Given the description of an element on the screen output the (x, y) to click on. 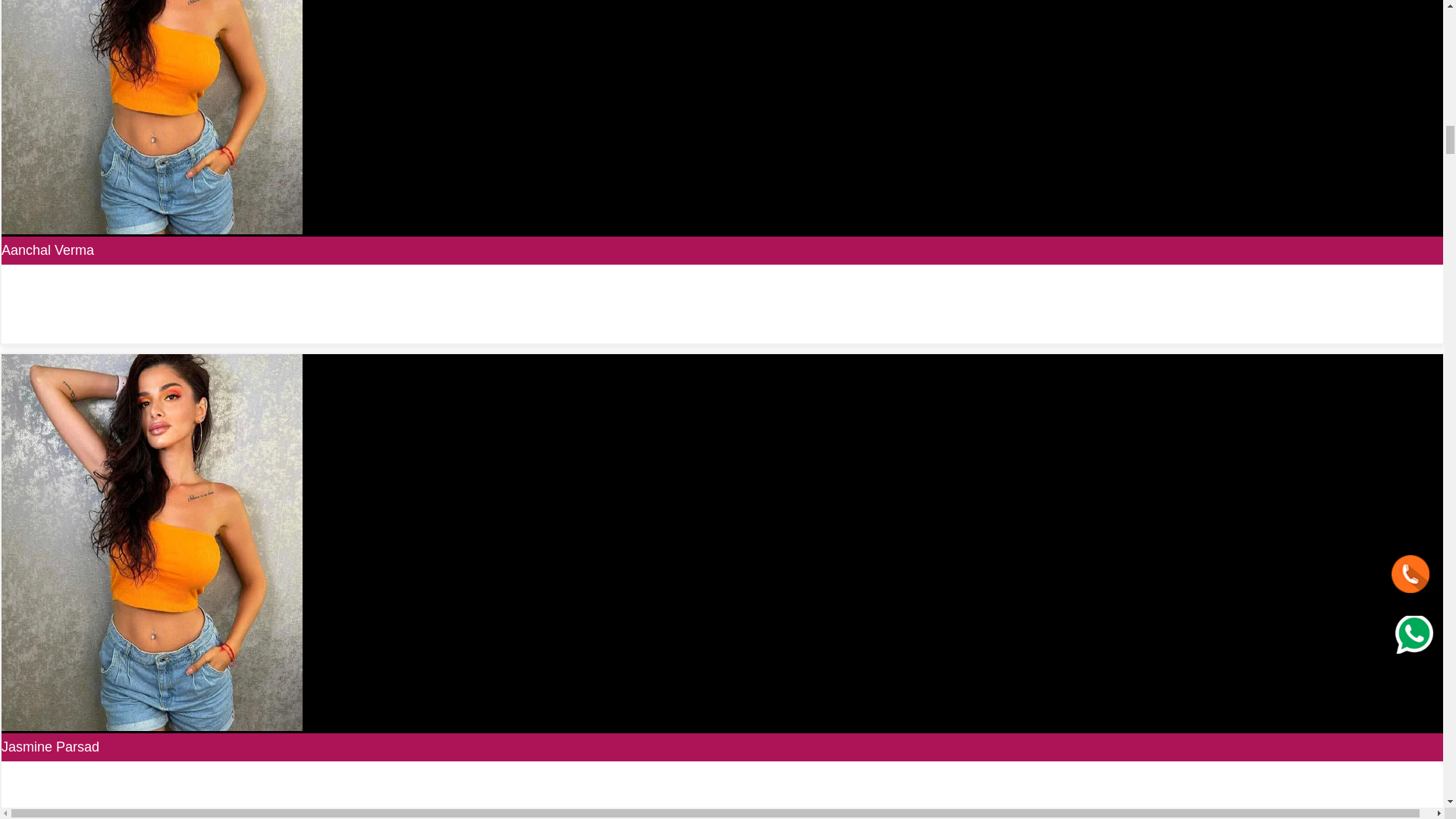
Aanchal Verma (47, 249)
Jasmine Parsad (50, 746)
